Given the description of an element on the screen output the (x, y) to click on. 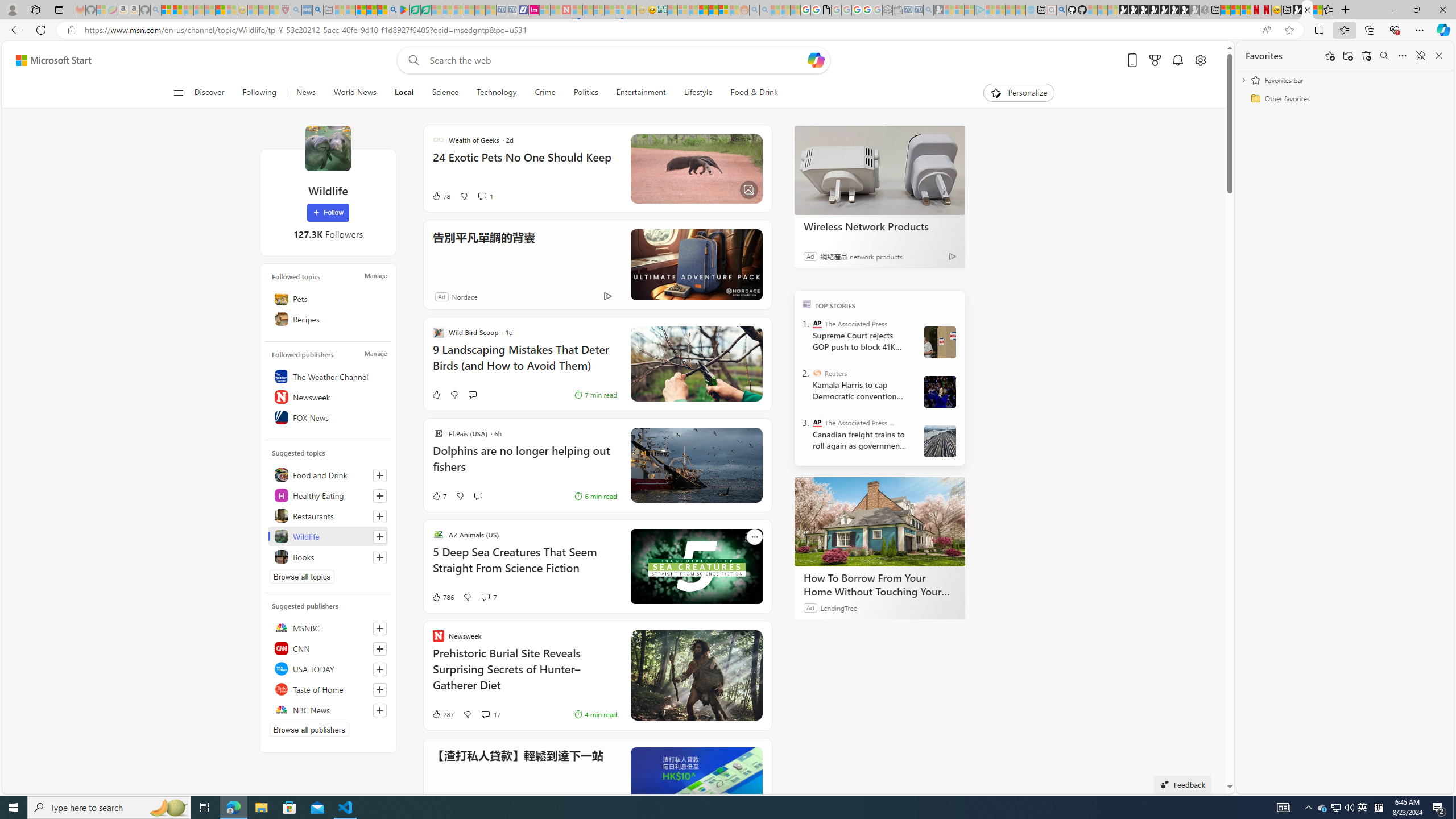
Restore deleted favorites (1366, 55)
24 Exotic Pets No One Should Keep (524, 163)
